Given the description of an element on the screen output the (x, y) to click on. 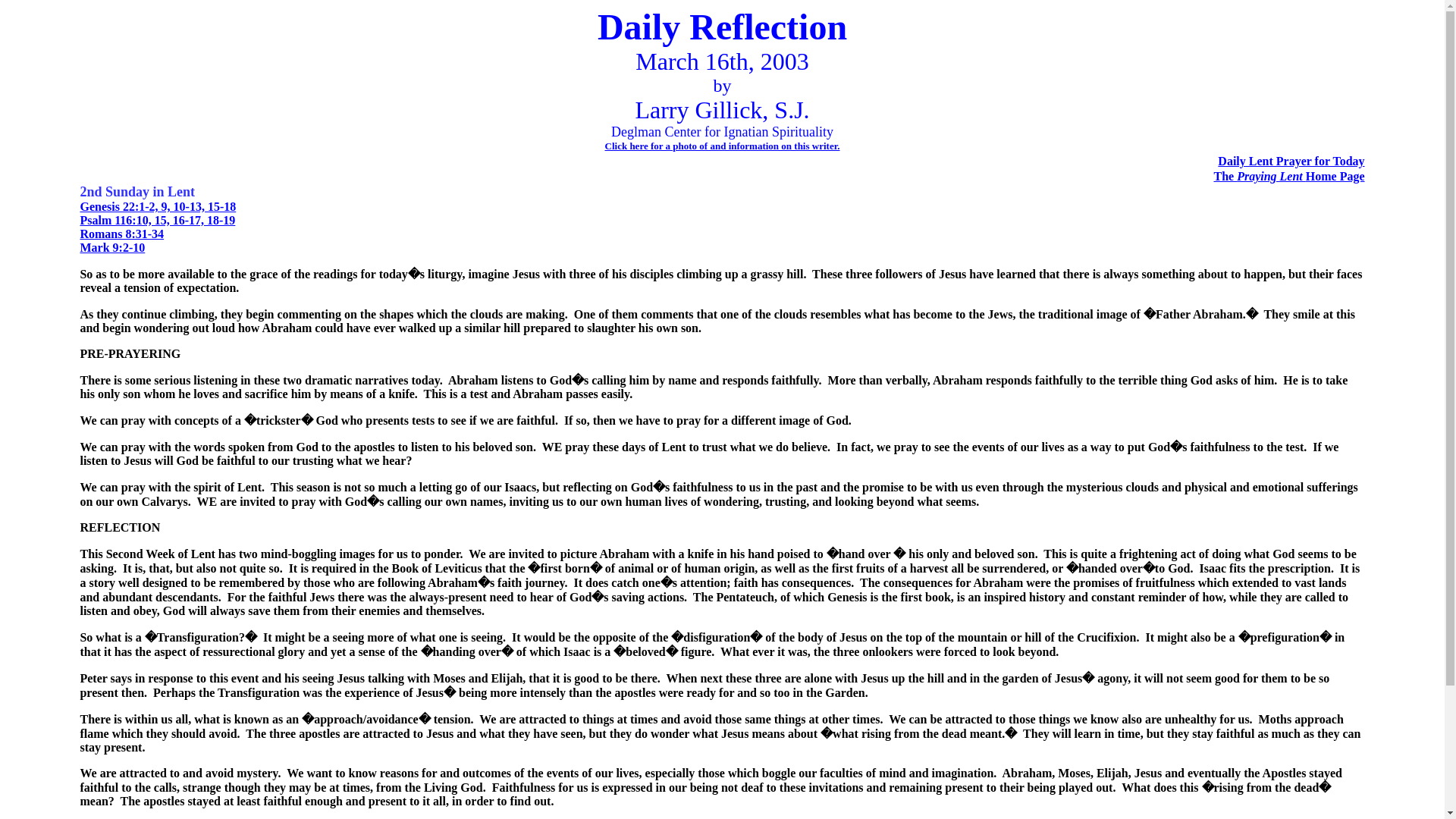
Mark 9:2-10 (112, 246)
The Praying Lent Home Page (1288, 175)
Romans 8:31-34 (121, 233)
Click here for a photo of and information on this writer. (722, 145)
Genesis 22:1-2, 9, 10-13, 15-18 (157, 205)
Daily Lent Prayer for Today (1290, 160)
Psalm 116:10, 15, 16-17, 18-19 (157, 219)
